Given the description of an element on the screen output the (x, y) to click on. 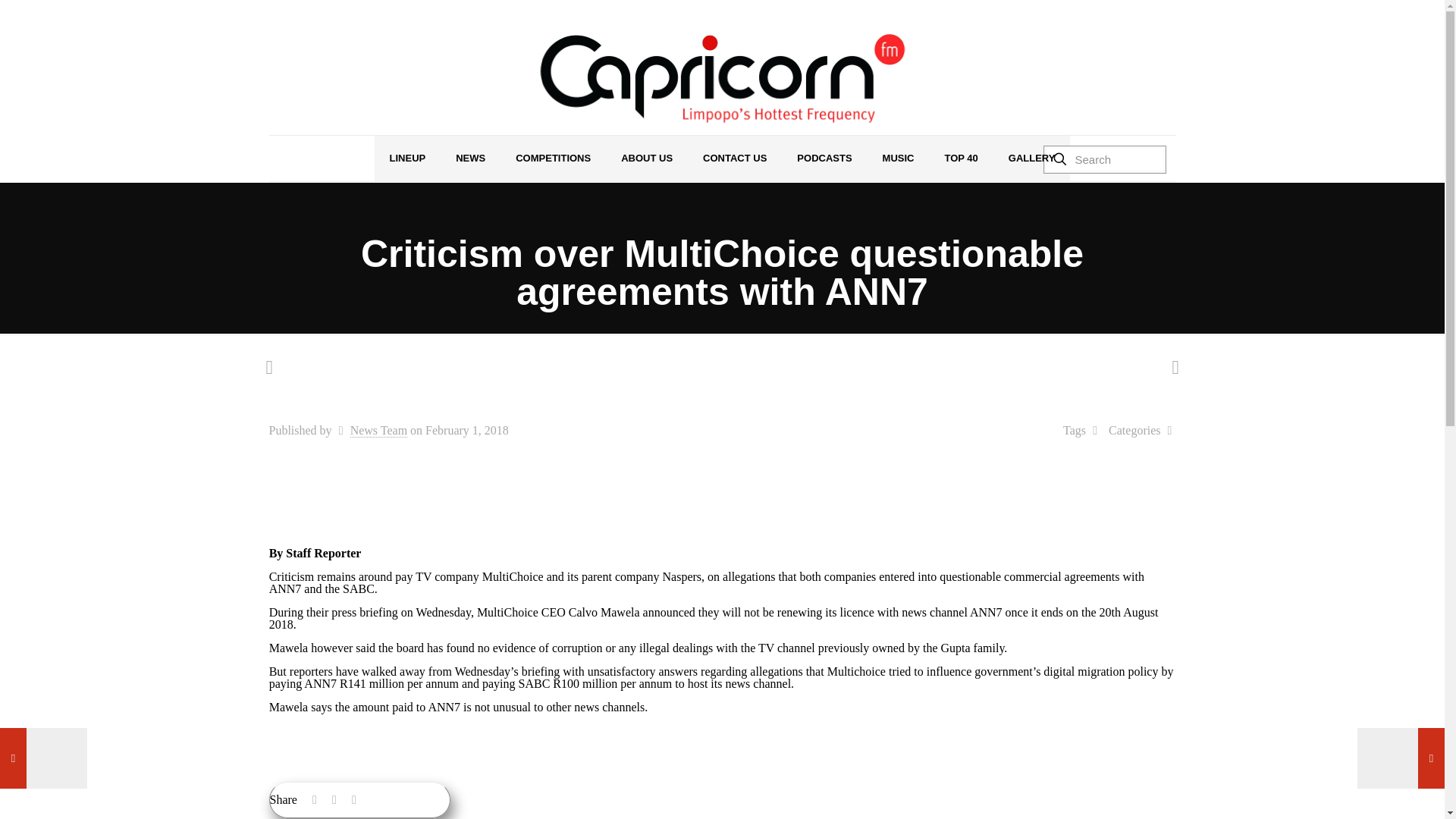
GALLERY (1031, 157)
LINEUP (407, 157)
PODCASTS (823, 157)
News Team (378, 430)
NEWS (470, 157)
MUSIC (898, 157)
TOP 40 (960, 157)
ABOUT US (646, 157)
CONTACT US (734, 157)
COMPETITIONS (552, 157)
